Given the description of an element on the screen output the (x, y) to click on. 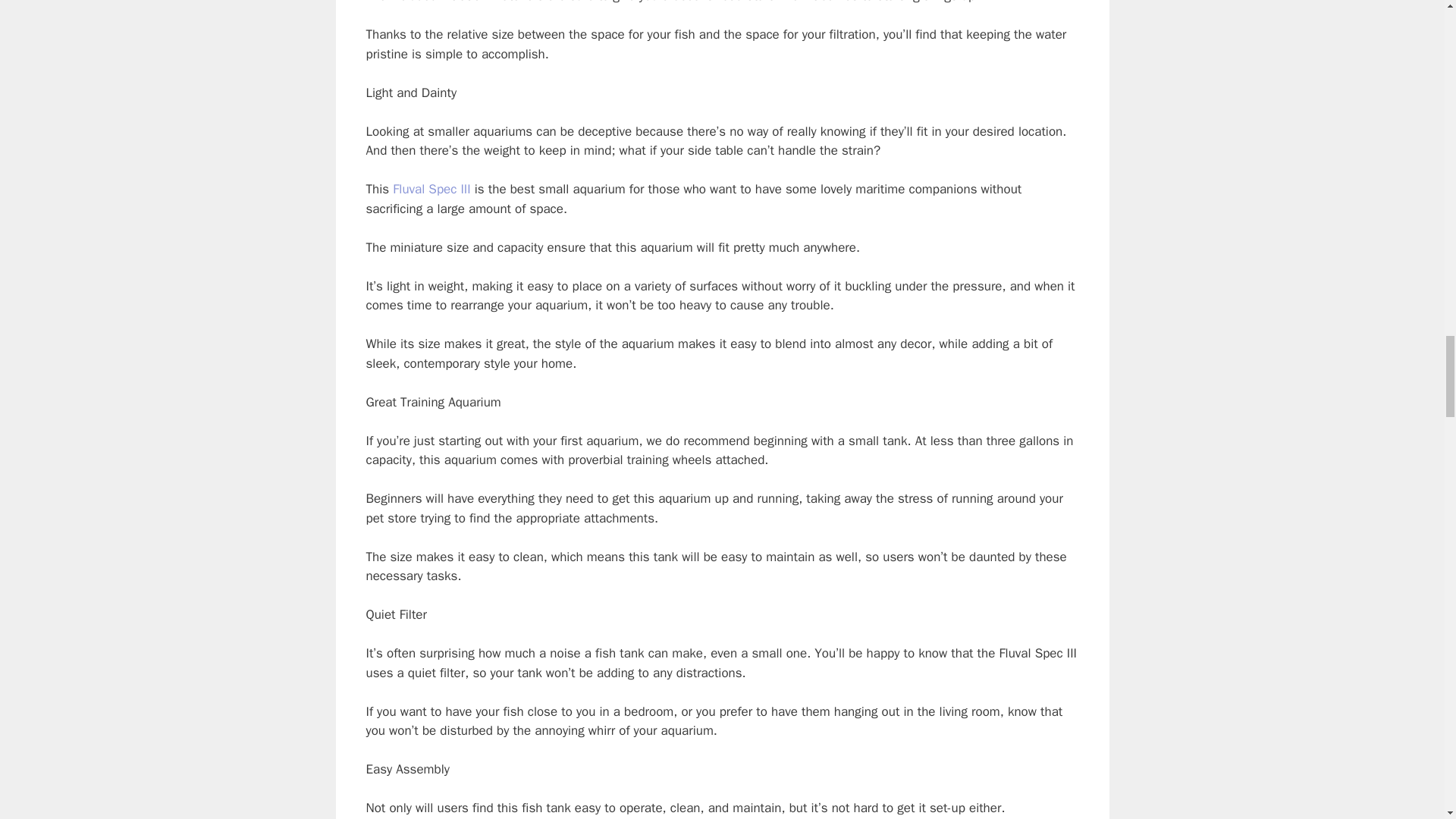
Fluval Spec III (431, 188)
